Given the description of an element on the screen output the (x, y) to click on. 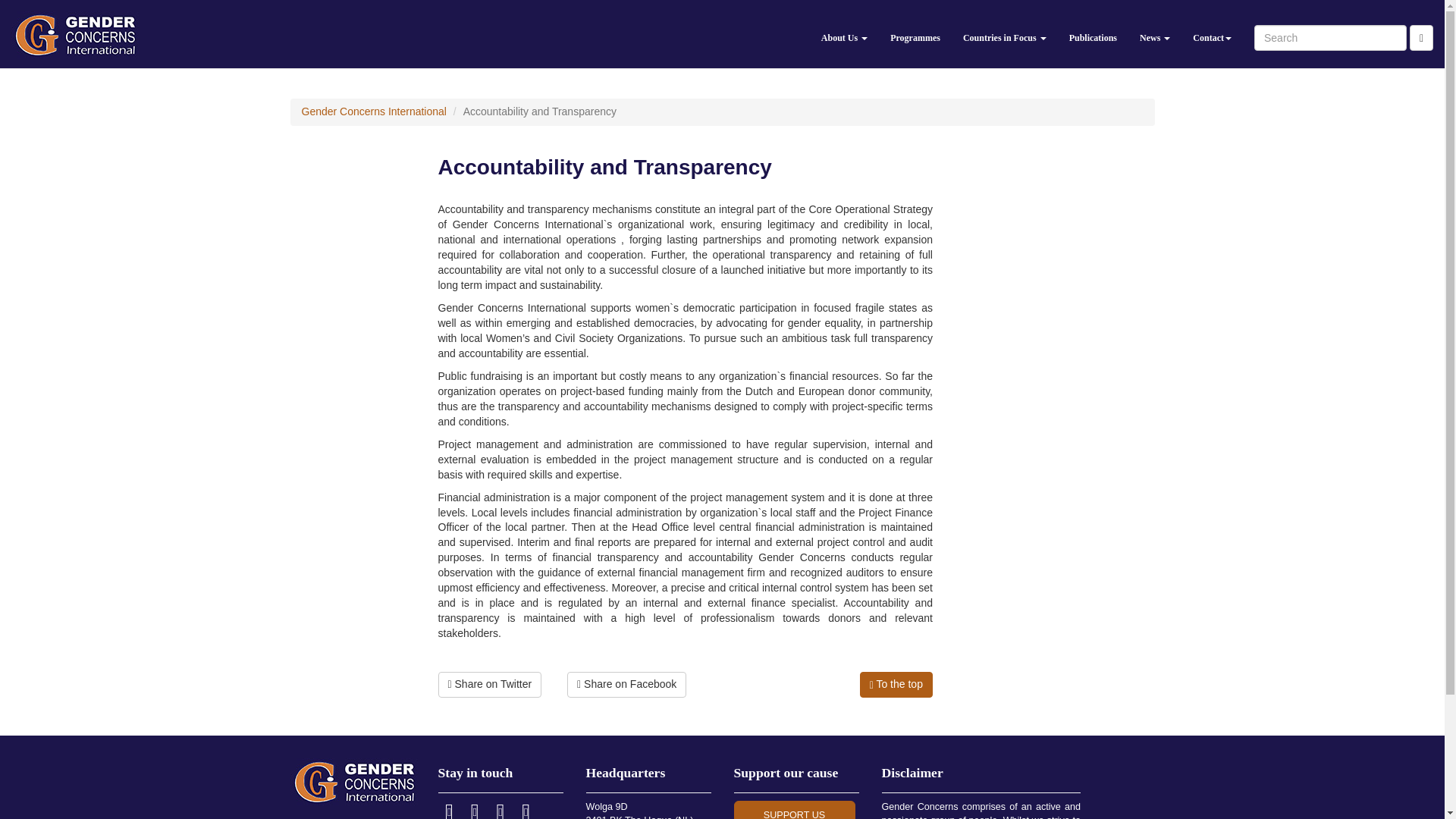
Countries in Focus (1005, 33)
Contact (1211, 33)
Gender Concerns International (373, 111)
Programmes (915, 33)
Publications (1093, 33)
About Us (844, 33)
